Given the description of an element on the screen output the (x, y) to click on. 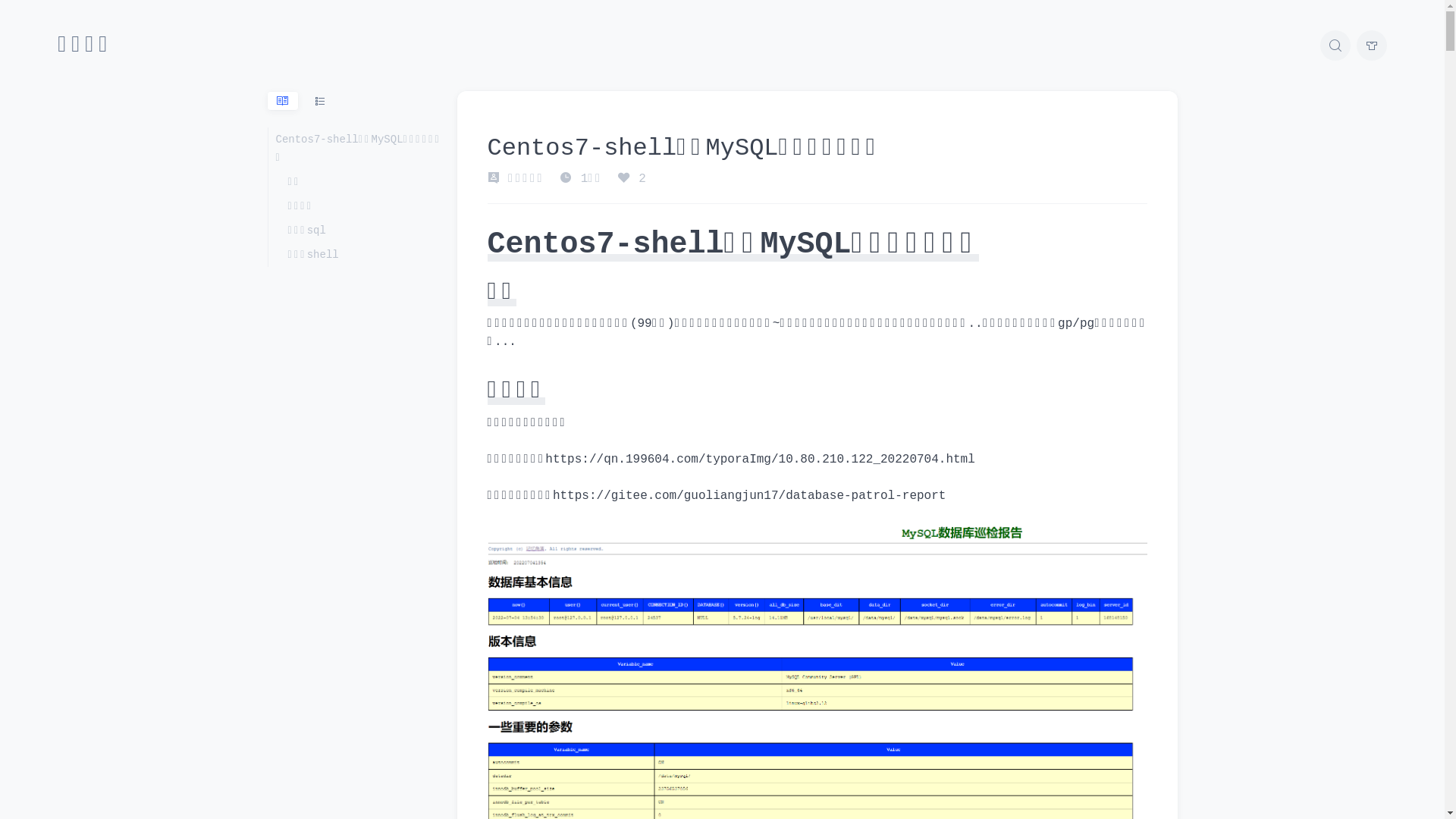
2 Element type: text (632, 178)
